Given the description of an element on the screen output the (x, y) to click on. 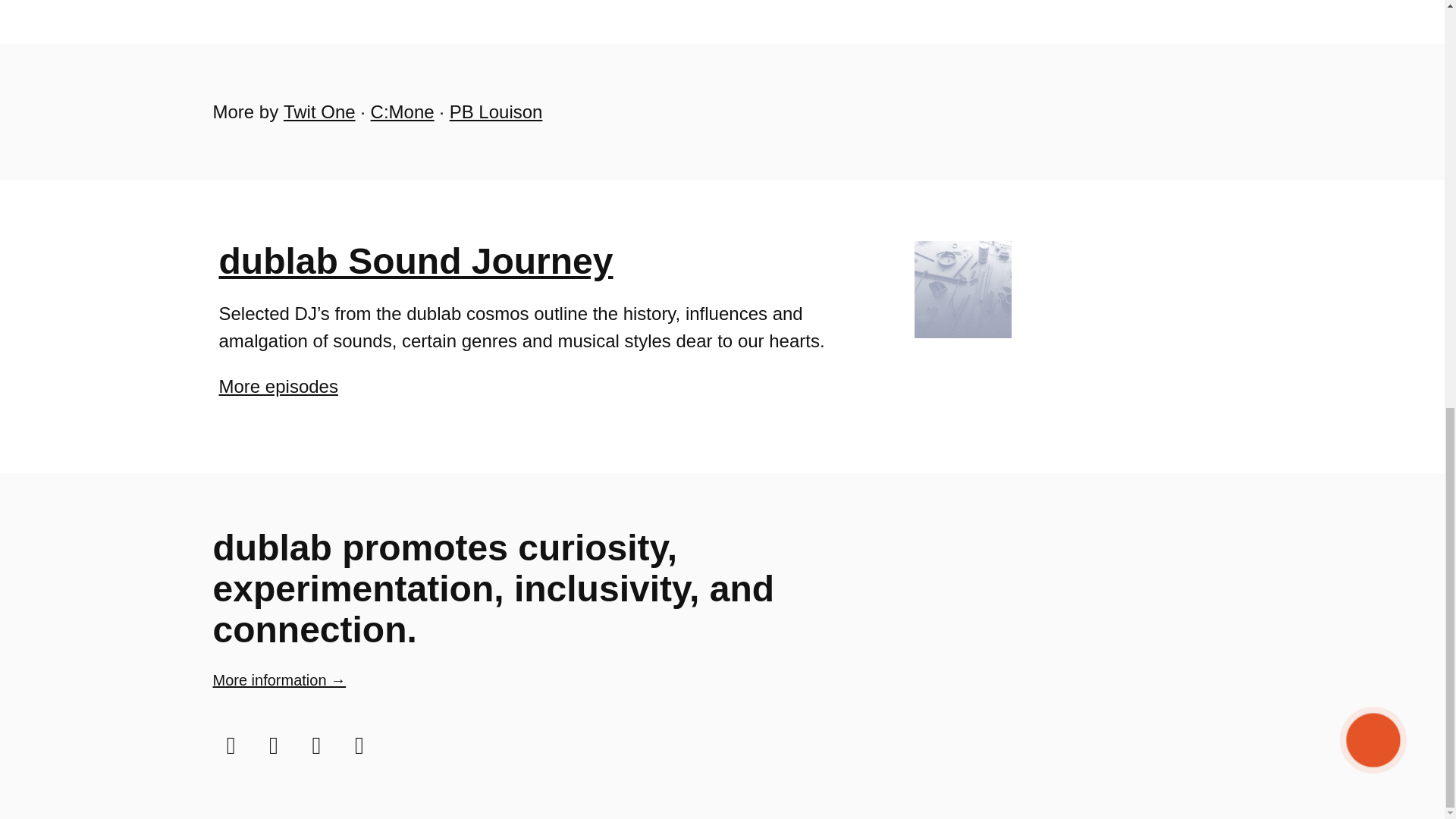
Twit One (319, 111)
dublab Sound Journey (415, 260)
PB Louison (496, 111)
More episodes (277, 385)
C:Mone (402, 111)
